Given the description of an element on the screen output the (x, y) to click on. 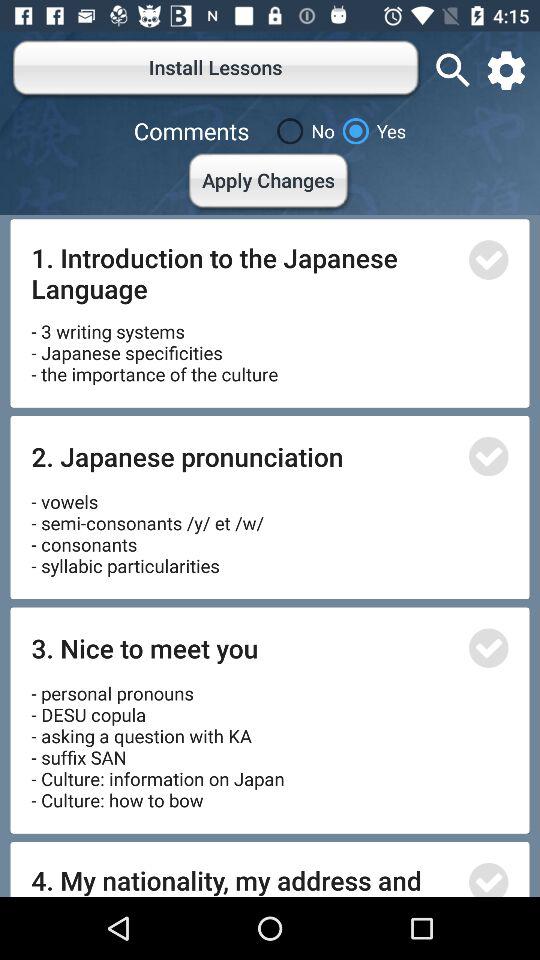
turn on icon above 3 nice to icon (147, 527)
